Given the description of an element on the screen output the (x, y) to click on. 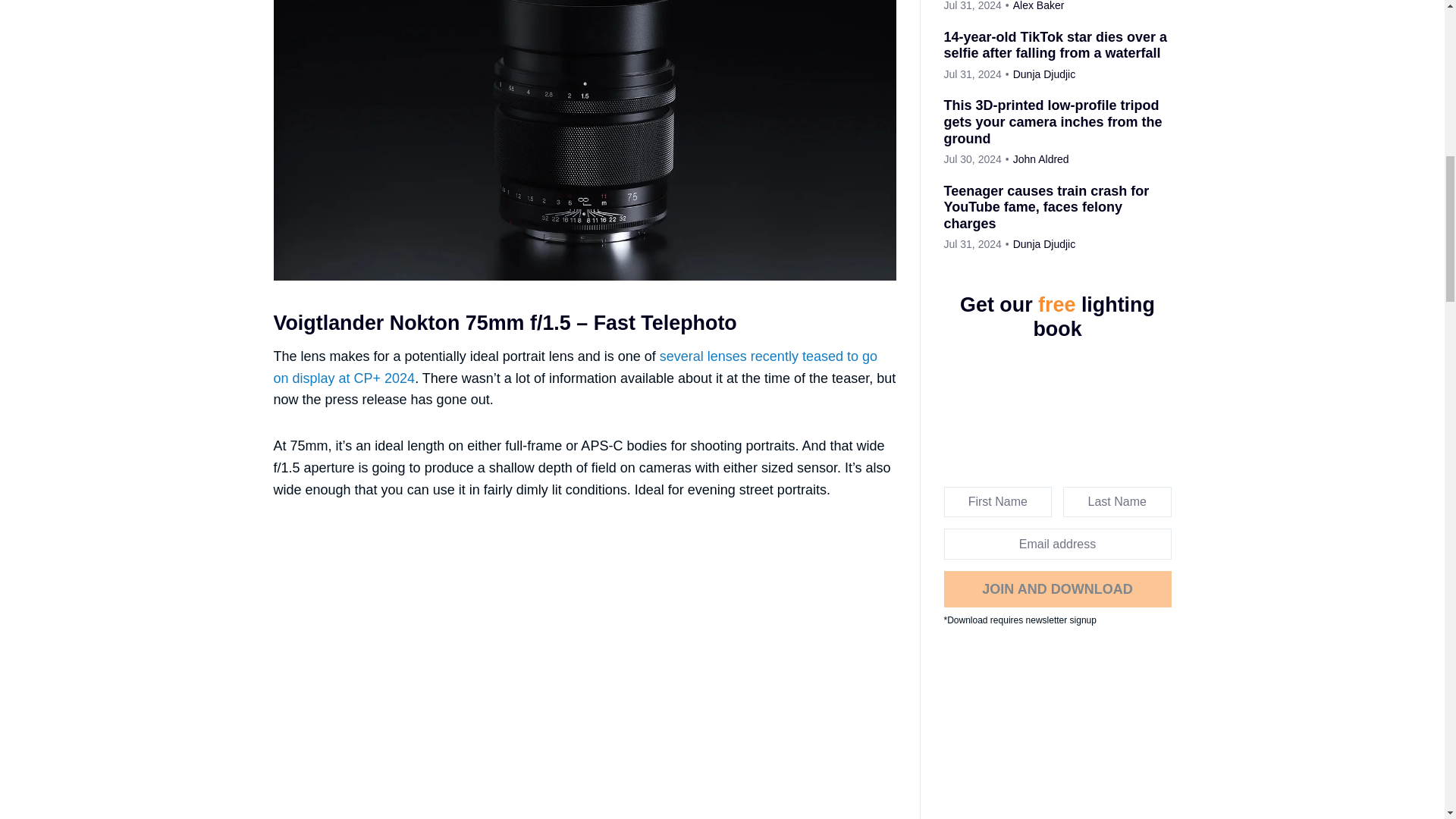
Join and Download (1056, 588)
